Given the description of an element on the screen output the (x, y) to click on. 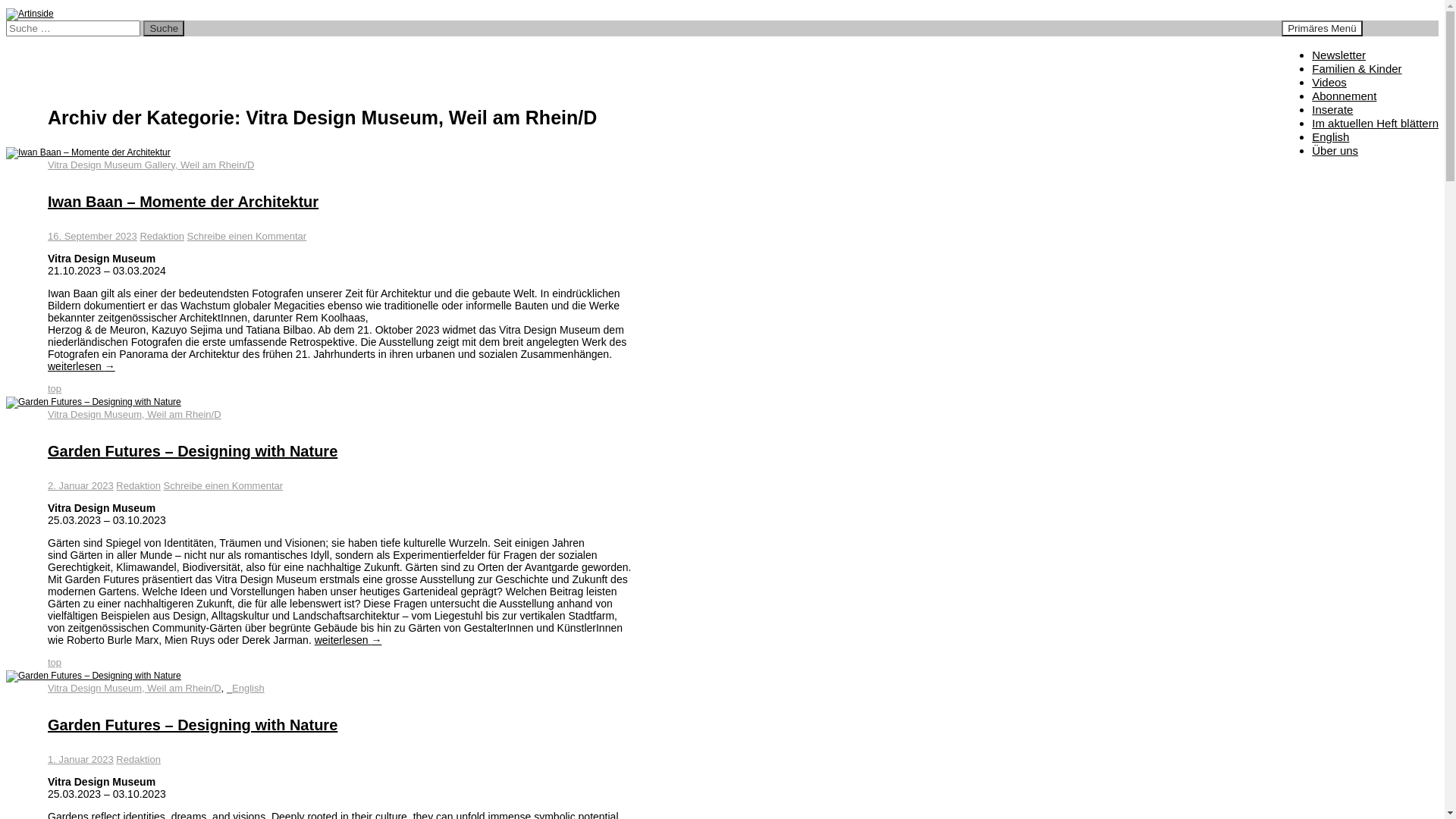
Inserate Element type: text (1331, 109)
16. September 2023 Element type: text (92, 235)
Redaktion Element type: text (138, 759)
Zum Inhalt springen Element type: text (1361, 19)
Vitra Design Museum, Weil am Rhein/D Element type: text (134, 413)
Artinside Element type: text (25, 55)
2. Januar 2023 Element type: text (80, 484)
Abonnement Element type: text (1343, 95)
_English Element type: text (245, 687)
Familien & Kinder Element type: text (1356, 68)
Schreibe einen Kommentar Element type: text (247, 235)
Redaktion Element type: text (161, 235)
Vitra Design Museum Gallery, Weil am Rhein/D Element type: text (150, 164)
Newsletter Element type: text (1338, 54)
top Element type: text (54, 387)
Videos Element type: text (1328, 81)
Vitra Design Museum, Weil am Rhein/D Element type: text (134, 687)
Suche Element type: text (163, 28)
Redaktion Element type: text (138, 484)
1. Januar 2023 Element type: text (80, 759)
English Element type: text (1330, 136)
Suchen Element type: text (5, 19)
Schreibe einen Kommentar Element type: text (223, 484)
top Element type: text (54, 662)
